Given the description of an element on the screen output the (x, y) to click on. 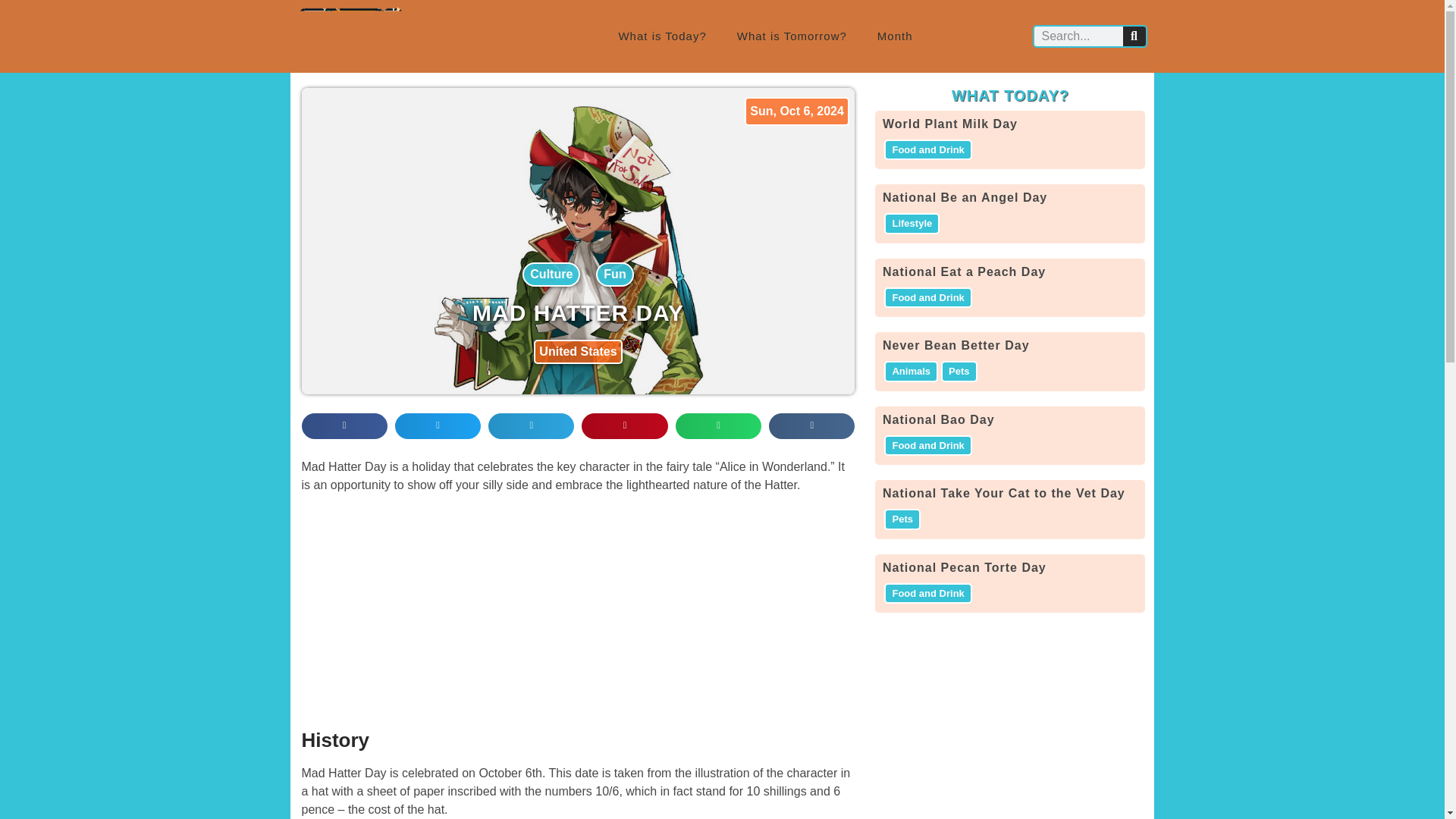
United States (577, 351)
logo (350, 36)
Lifestyle (911, 223)
What is Today? (661, 36)
National Be an Angel Day (964, 196)
Fun (614, 274)
World Plant Milk Day (949, 123)
Month (894, 36)
Culture (550, 274)
What is Tomorrow? (791, 36)
